Given the description of an element on the screen output the (x, y) to click on. 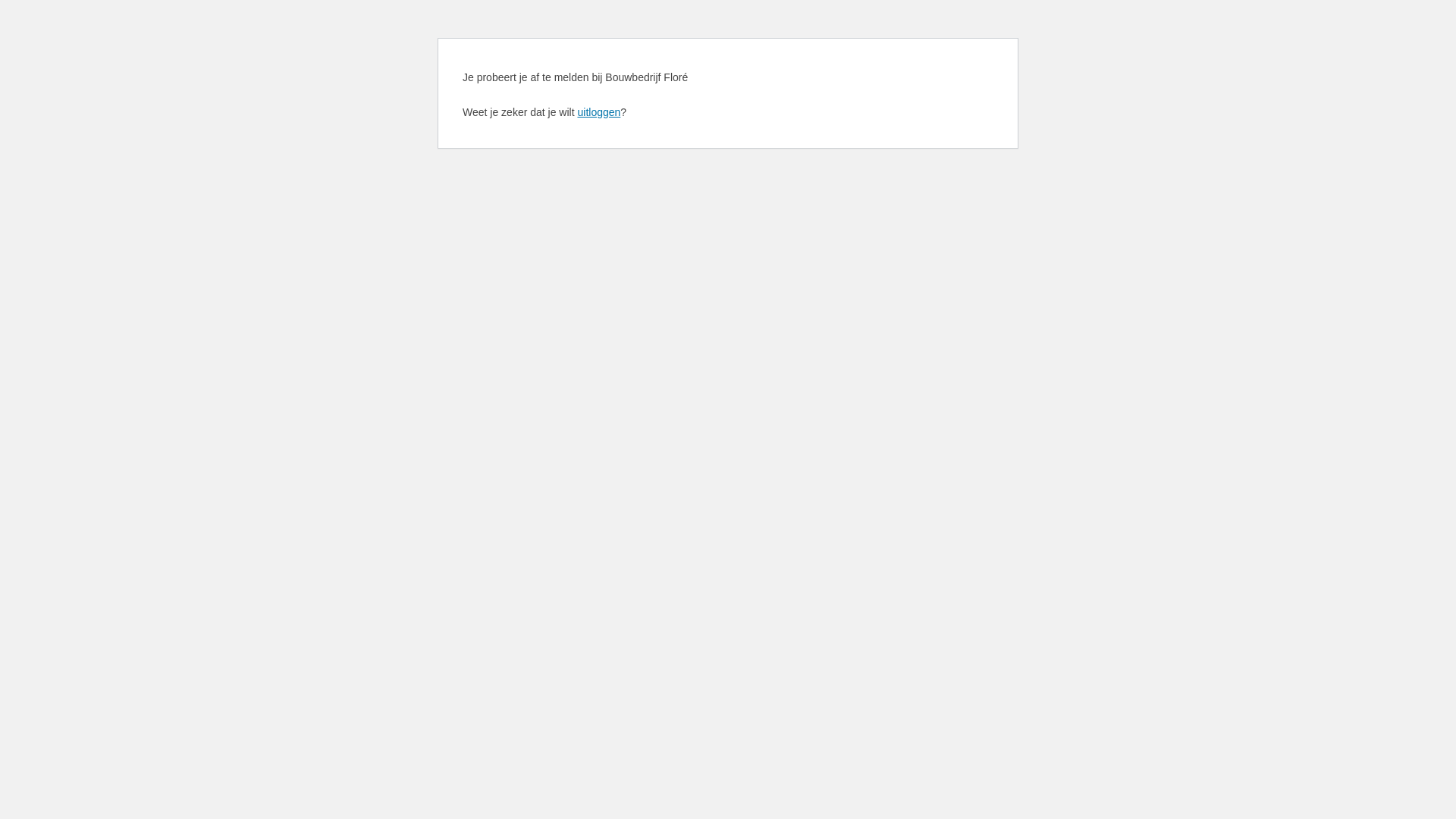
uitloggen Element type: text (598, 112)
